Given the description of an element on the screen output the (x, y) to click on. 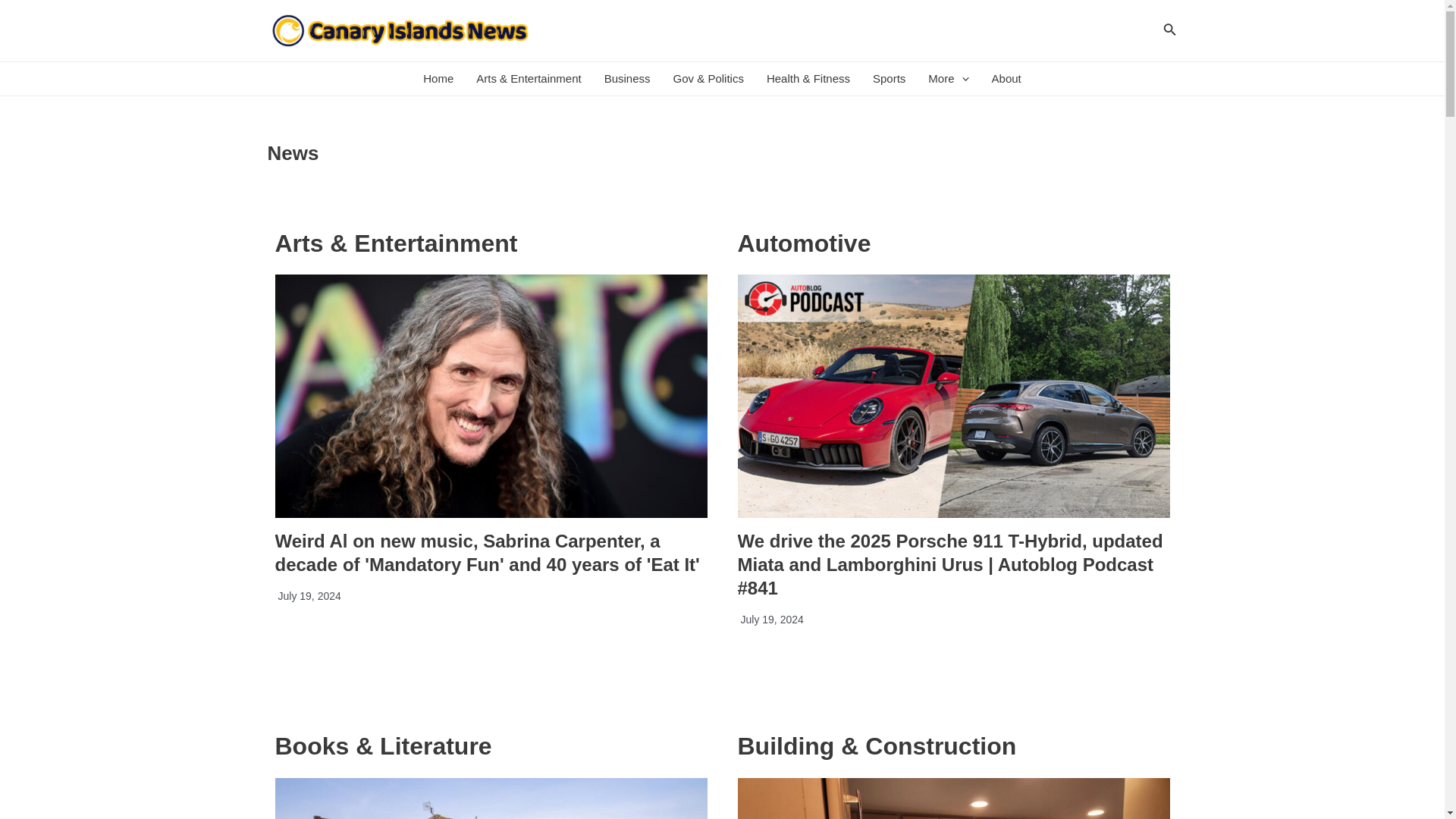
Business (627, 78)
Sports (889, 78)
Home (438, 78)
More (948, 78)
About (1005, 78)
